Given the description of an element on the screen output the (x, y) to click on. 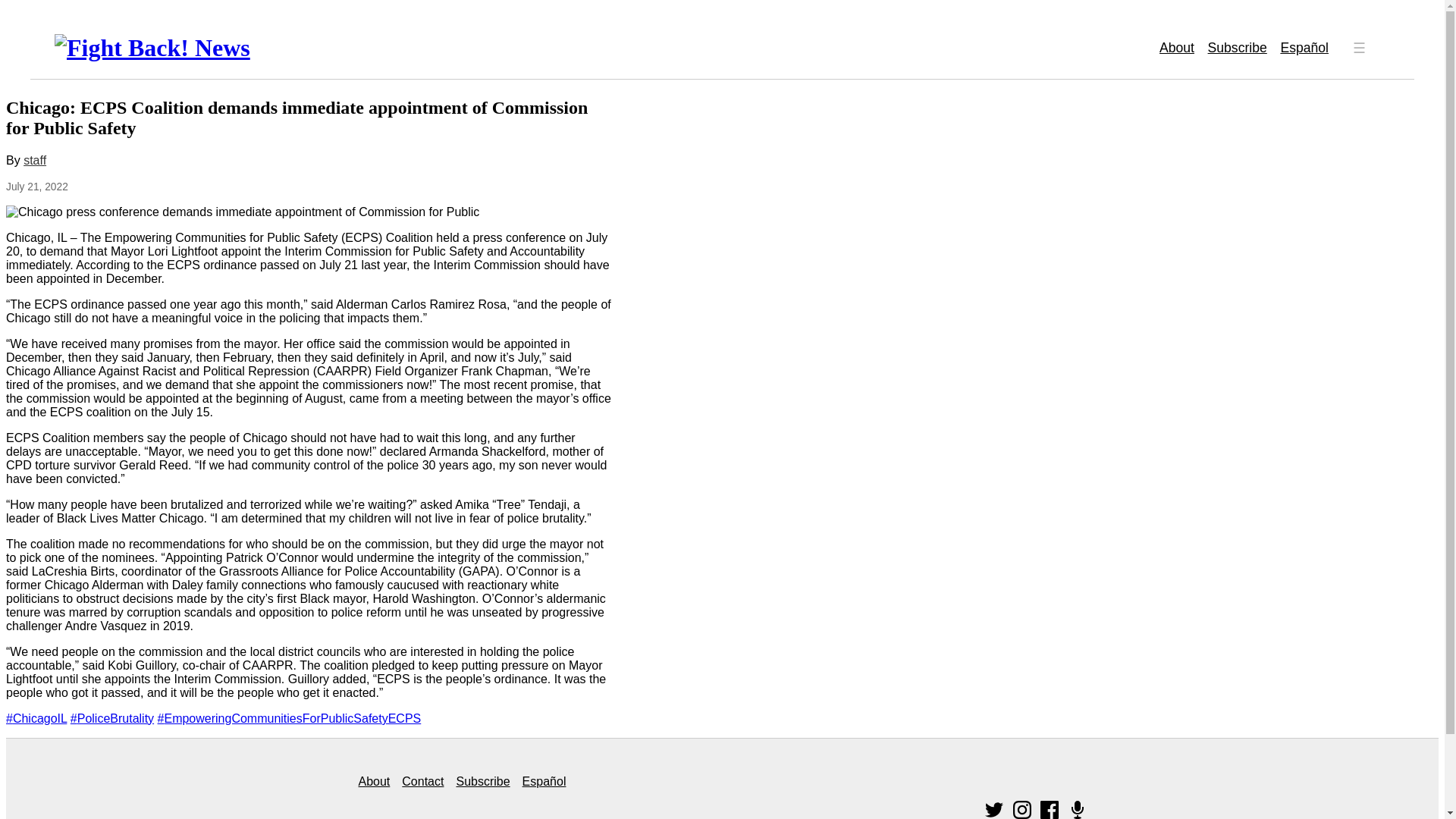
About (374, 780)
Subscribe (1237, 48)
staff (34, 160)
About (1175, 48)
Contact (422, 780)
Subscribe (482, 780)
